Given the description of an element on the screen output the (x, y) to click on. 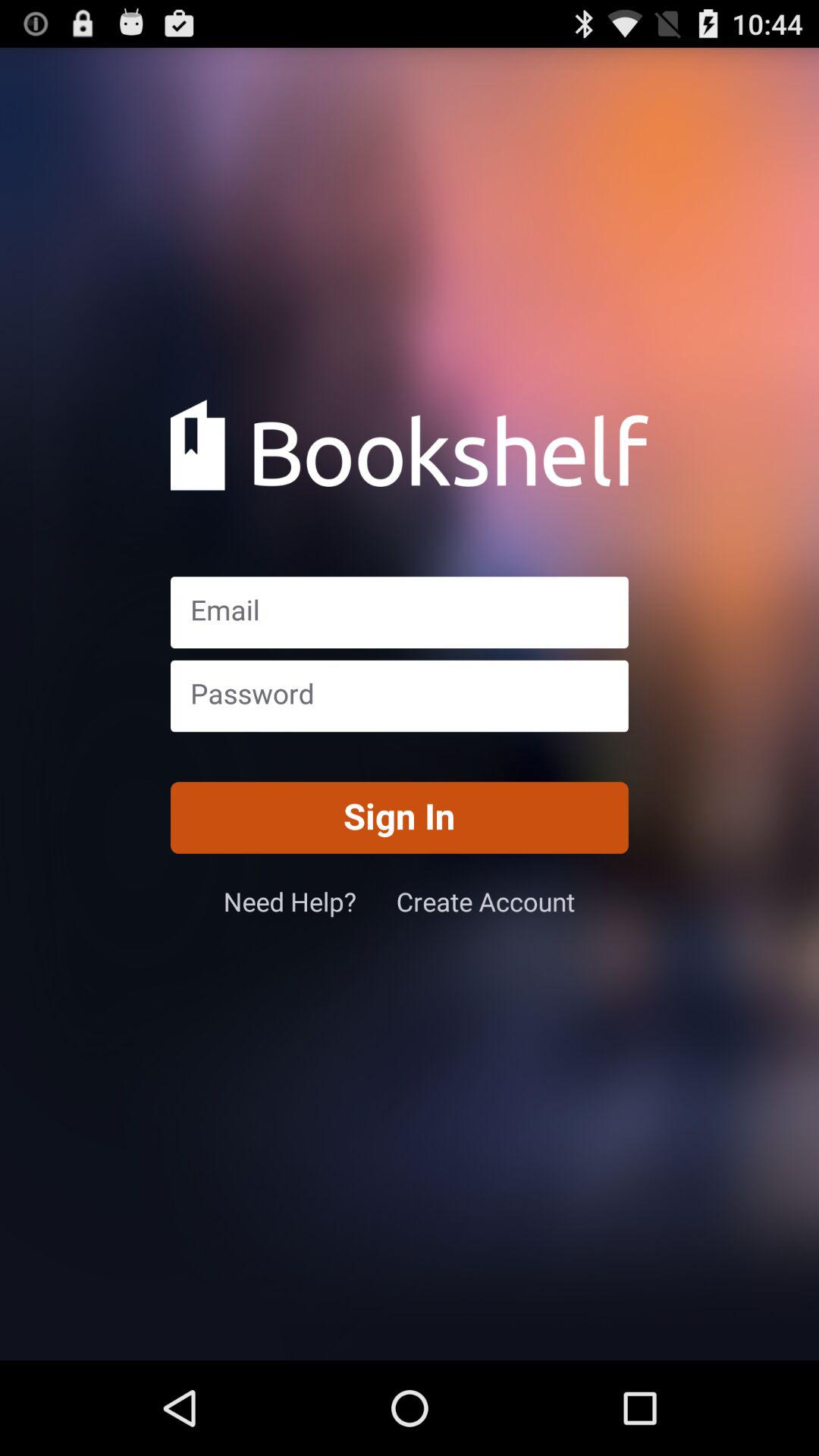
password field (399, 695)
